Given the description of an element on the screen output the (x, y) to click on. 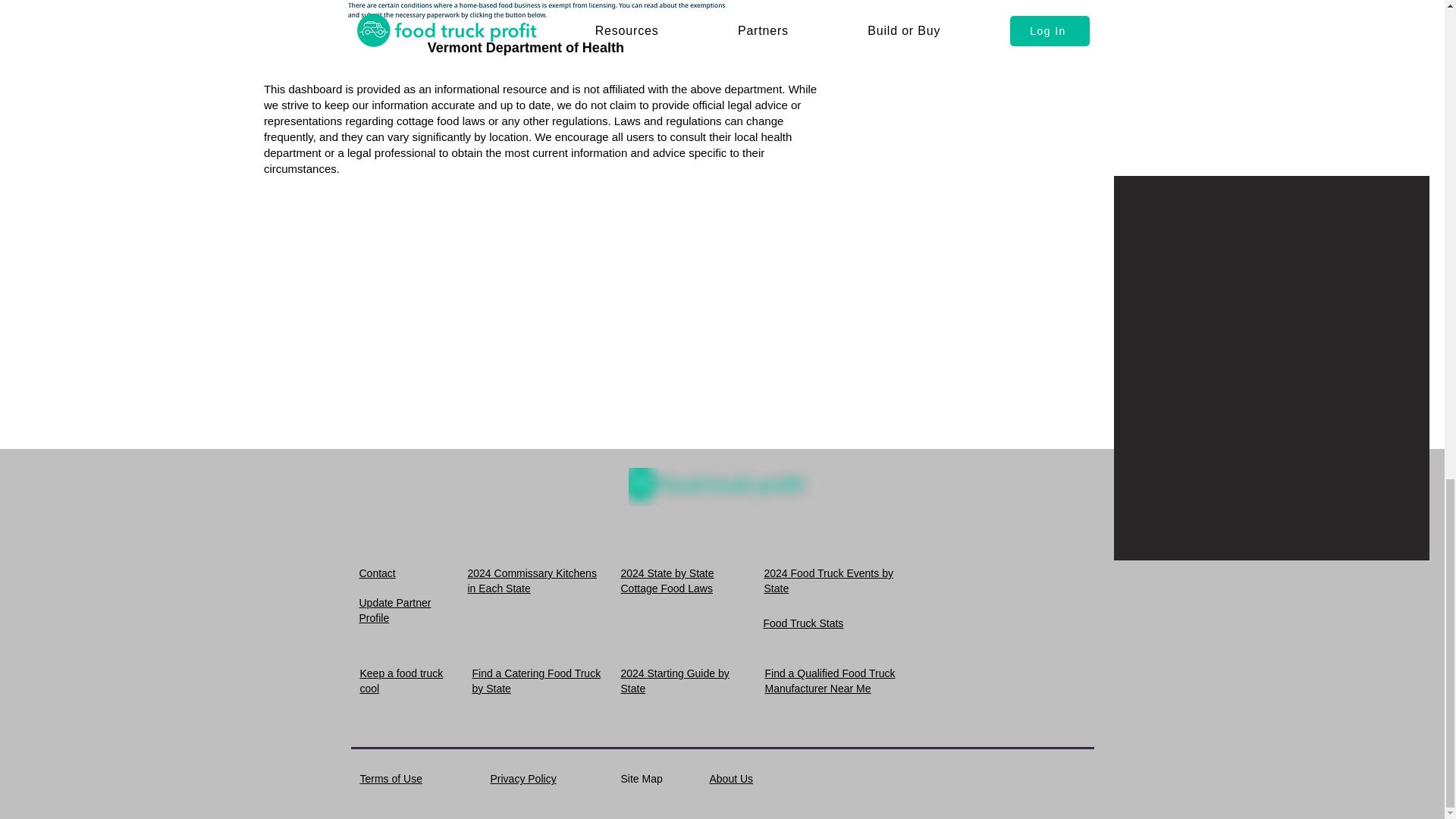
Privacy Policy (522, 778)
2024 Food Truck Events by State (828, 580)
2024 Commissary Kitchens in Each State (531, 580)
Contact (377, 573)
About Us (732, 778)
Vermont Department of Health.webp (539, 12)
Keep a food truck cool (400, 680)
2024 Starting Guide by State (674, 680)
Find a Qualified Food Truck Manufacturer Near Me (829, 680)
Update Partner Profile (394, 610)
2024 State by State Cottage Food Laws (666, 580)
Find a Catering Food Truck by State (535, 680)
Food Truck Stats (802, 623)
Terms of Use (390, 778)
